Given the description of an element on the screen output the (x, y) to click on. 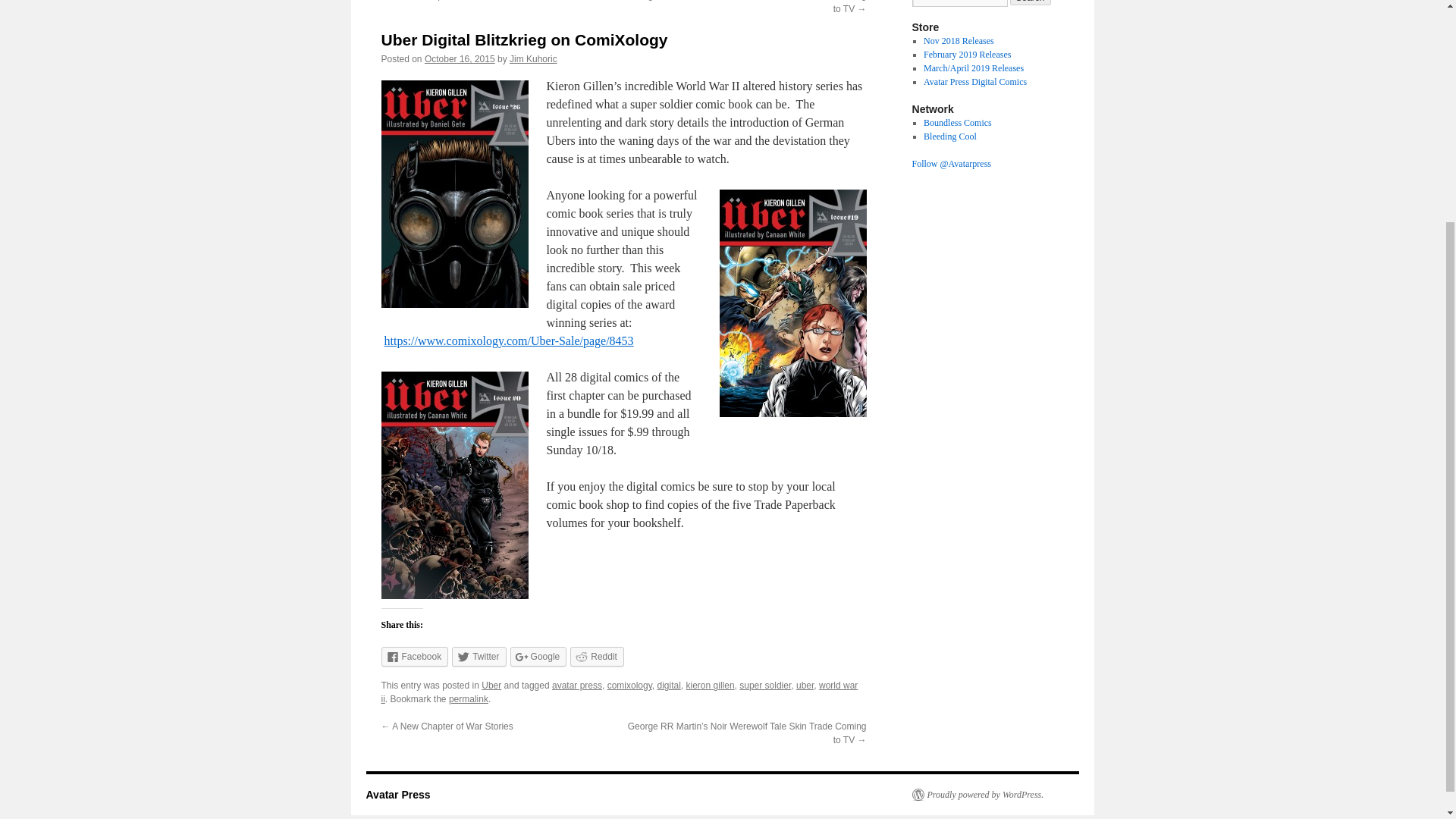
Search (1030, 2)
3:22 pm (460, 59)
October 16, 2015 (460, 59)
Click to share on Facebook (414, 656)
Skip to content (372, 7)
Facebook (414, 656)
February 2019 Releases (966, 54)
Permalink to Uber Digital Blitzkrieg on ComiXology (467, 698)
digital (667, 685)
world war ii (618, 692)
avatar press (576, 685)
Skip to content (372, 7)
Click to share on Twitter (478, 656)
super soldier (764, 685)
Proudly powered by WordPress. (977, 794)
